Given the description of an element on the screen output the (x, y) to click on. 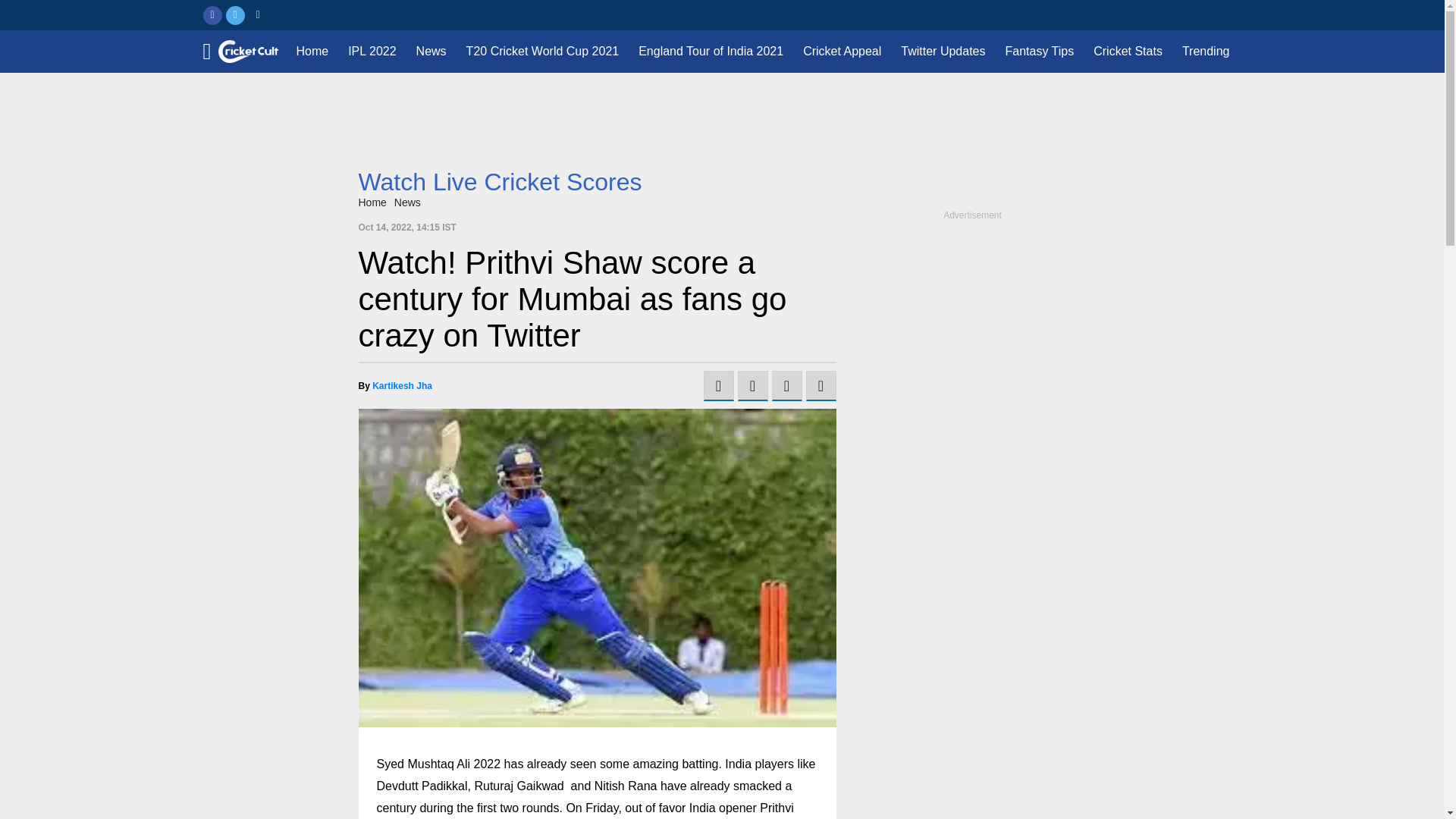
Rechercher (1229, 15)
Rechercher (1229, 15)
Oct 14, 2022, 14:15 IST (406, 226)
Trending (1206, 51)
Instagram (257, 15)
Fantasy Tips (1038, 51)
Rechercher (1229, 15)
Facebook (212, 15)
Watch Live Cricket Scores (500, 181)
Home (311, 51)
